Given the description of an element on the screen output the (x, y) to click on. 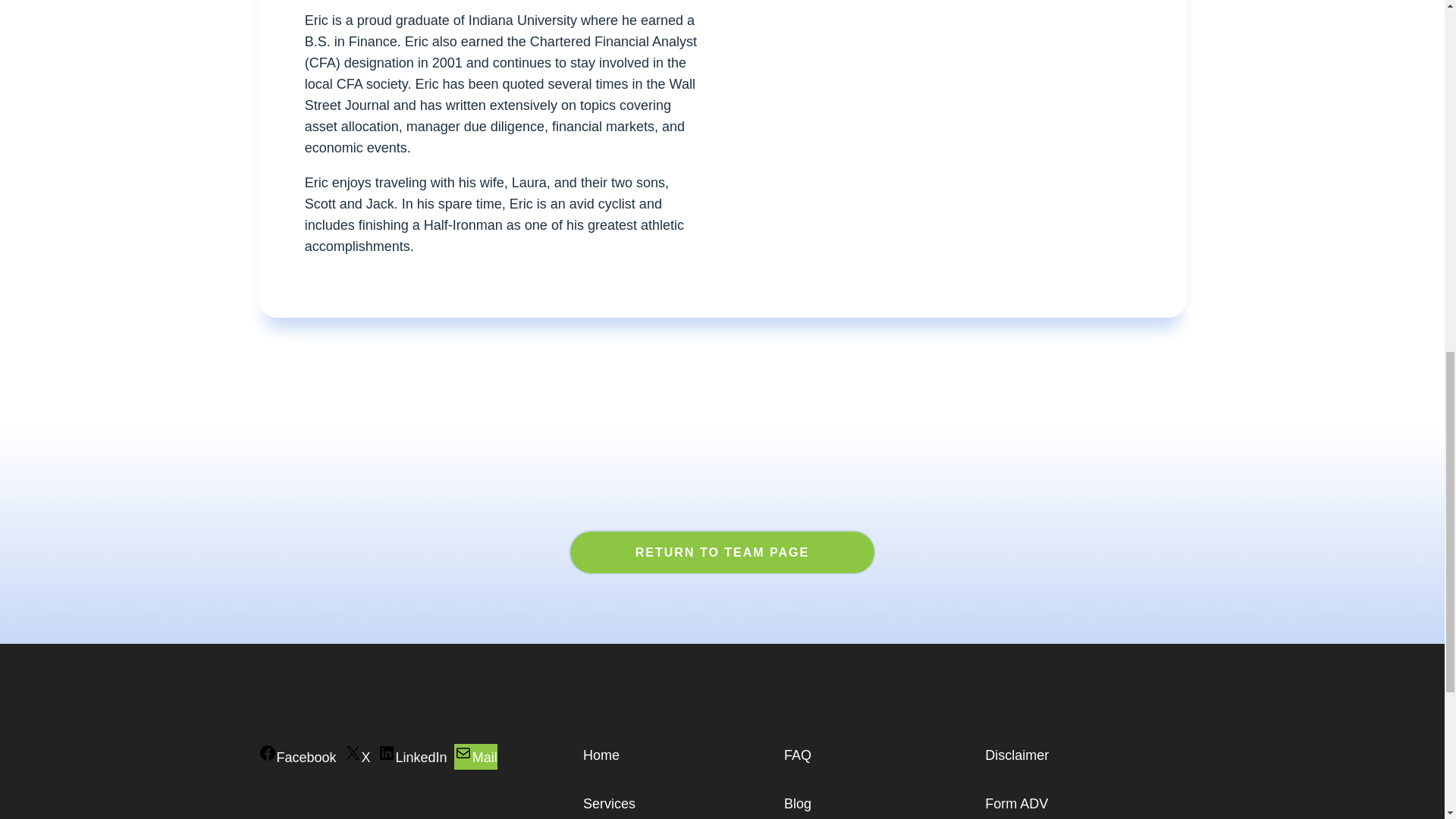
Services (608, 803)
Mail (475, 757)
FAQ (797, 754)
LinkedIn (411, 757)
RETURN TO TEAM PAGE (722, 551)
Blog (797, 803)
Facebook (296, 757)
X (357, 757)
Home (601, 754)
Form ADV (1016, 803)
Disclaimer (1016, 754)
